Given the description of an element on the screen output the (x, y) to click on. 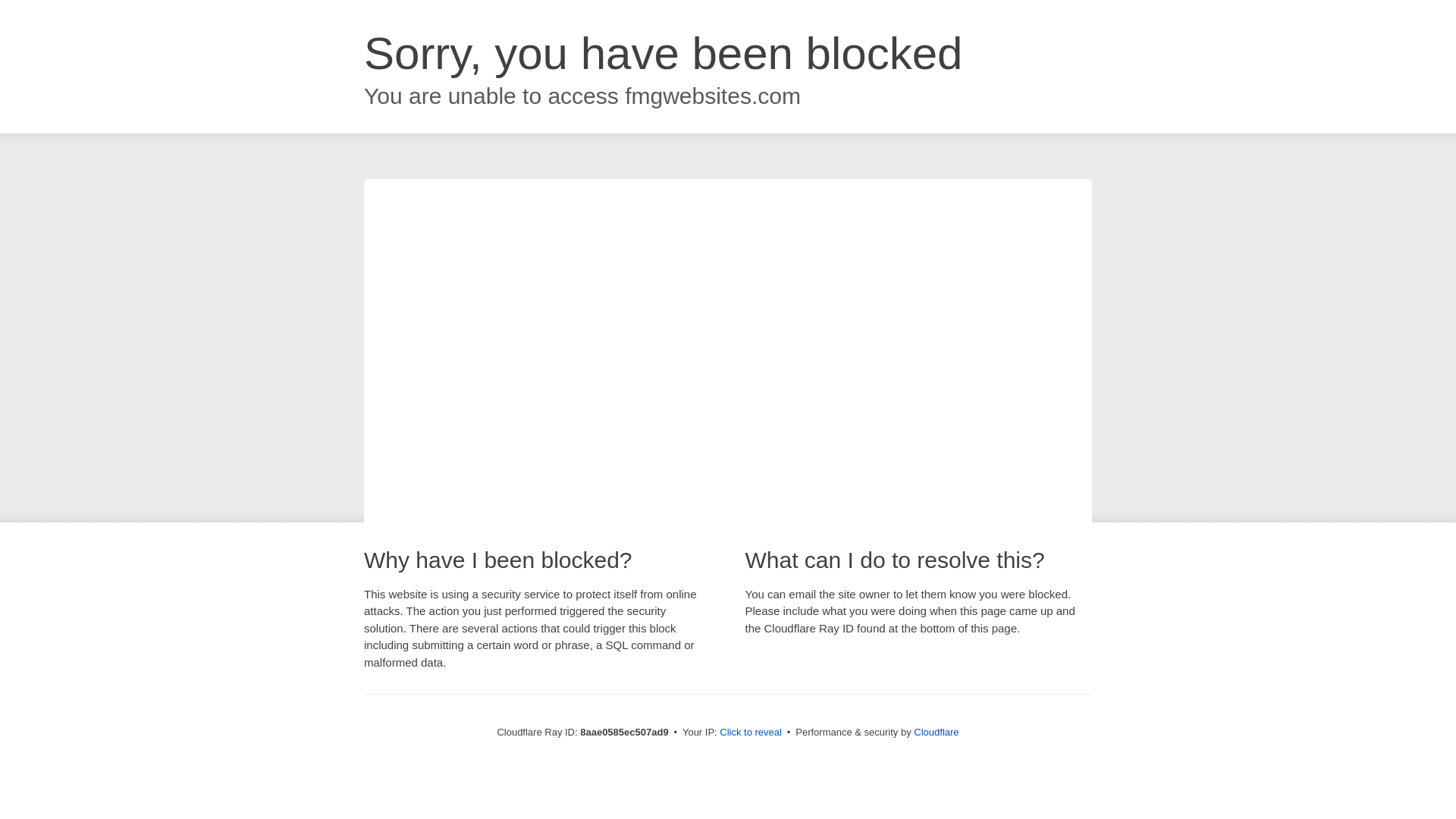
Click to reveal (750, 732)
Cloudflare (936, 731)
